Given the description of an element on the screen output the (x, y) to click on. 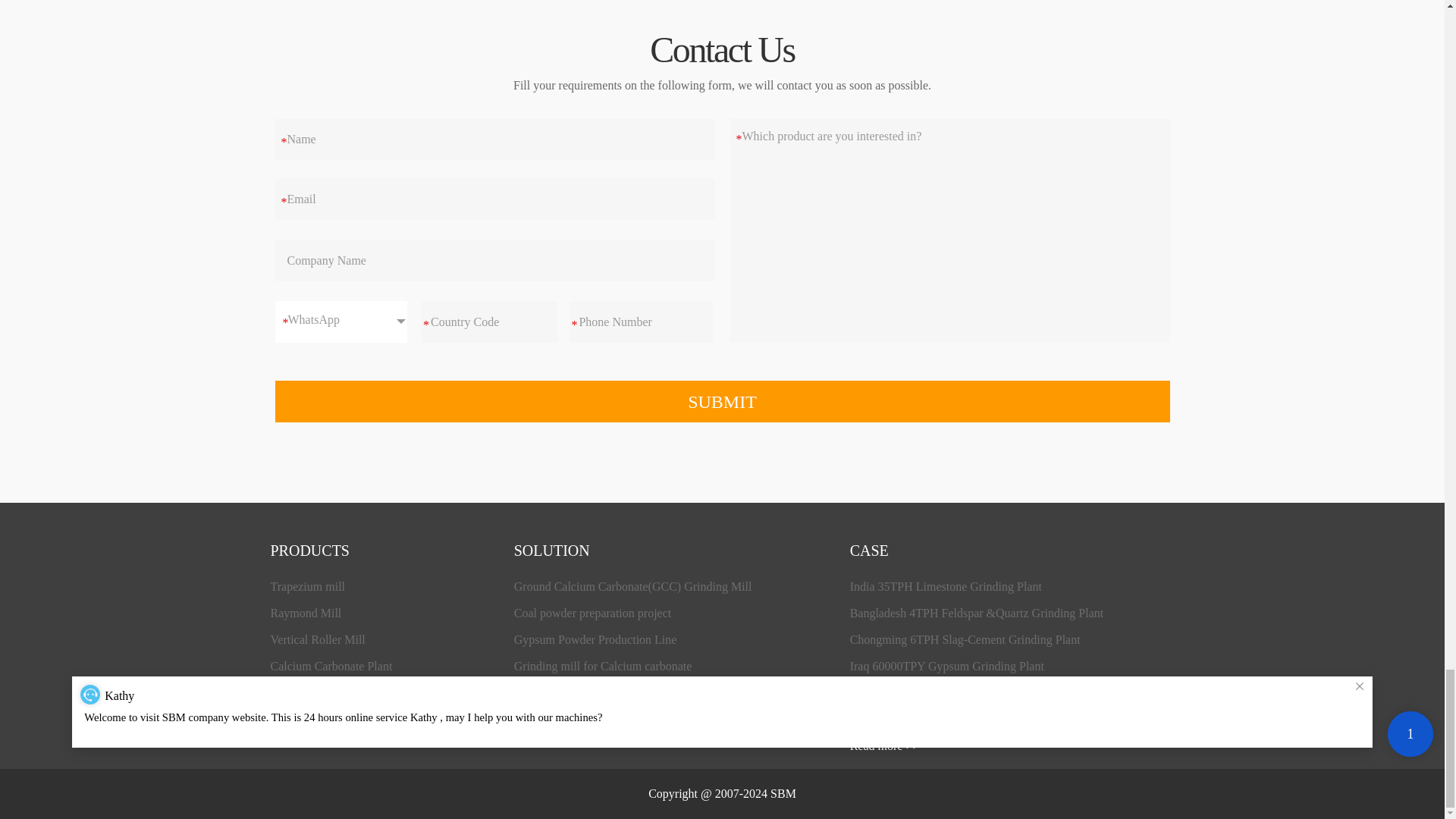
Gypsum Powder Production Line (595, 639)
Vertical Roller Mill (317, 639)
Gypsum Plant (304, 718)
Trapezium mill (307, 585)
Raymond Mill (304, 612)
Limestone Mill (307, 692)
Calcium Carbonate Plant (330, 666)
Grinding mill for Calcium carbonate (603, 666)
Limestone powder desulfurizer process (608, 692)
Coal powder preparation project (592, 612)
SUBMIT (722, 401)
